Given the description of an element on the screen output the (x, y) to click on. 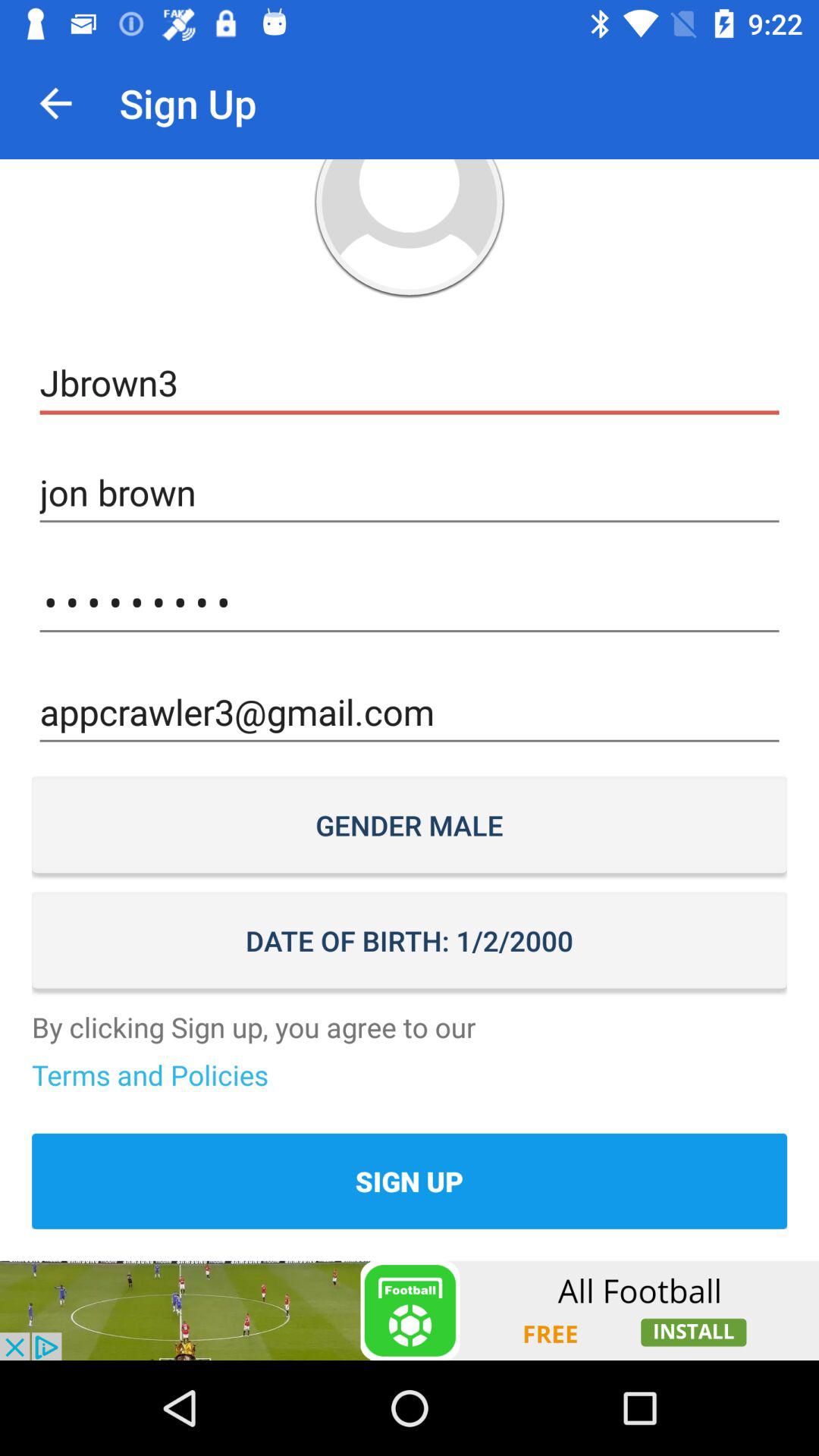
irrelevant advertisement (409, 1310)
